Given the description of an element on the screen output the (x, y) to click on. 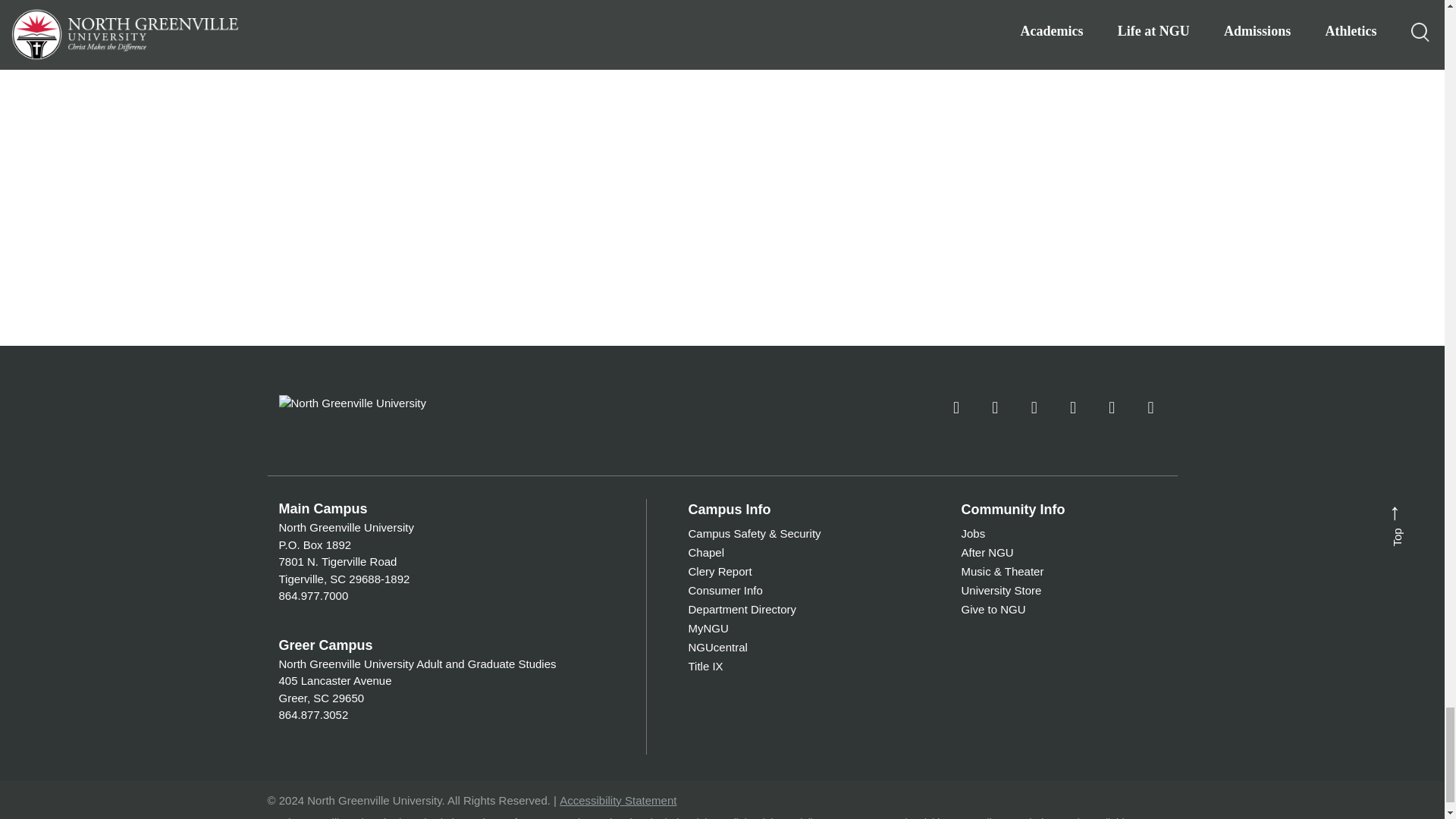
North Greenville University (392, 401)
